Given the description of an element on the screen output the (x, y) to click on. 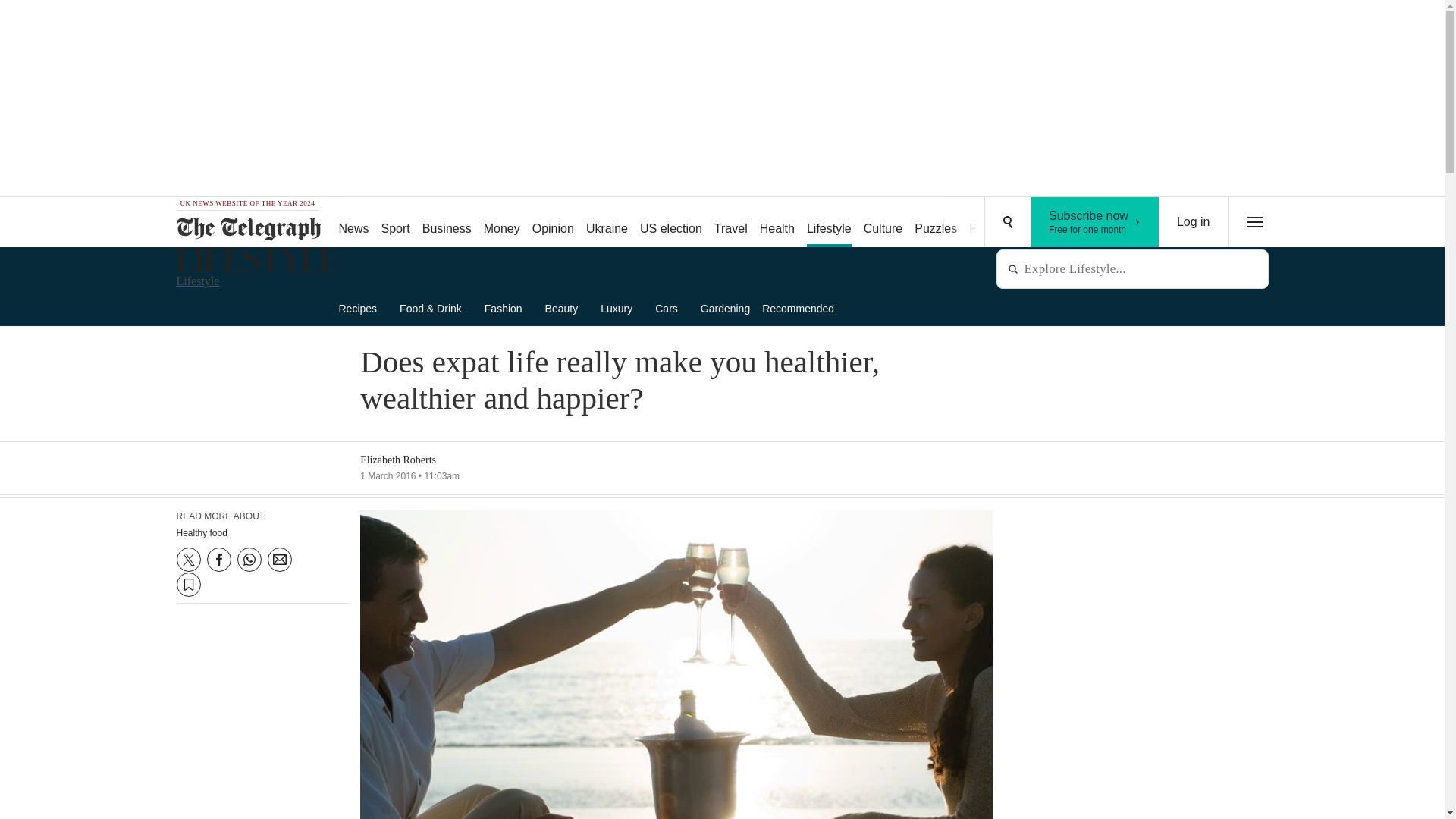
Business (446, 223)
Fashion (1094, 222)
Health (508, 308)
Opinion (777, 223)
Recipes (552, 223)
Travel (362, 308)
Lifestyle (730, 223)
Log in (828, 223)
Podcasts (1193, 222)
